Given the description of an element on the screen output the (x, y) to click on. 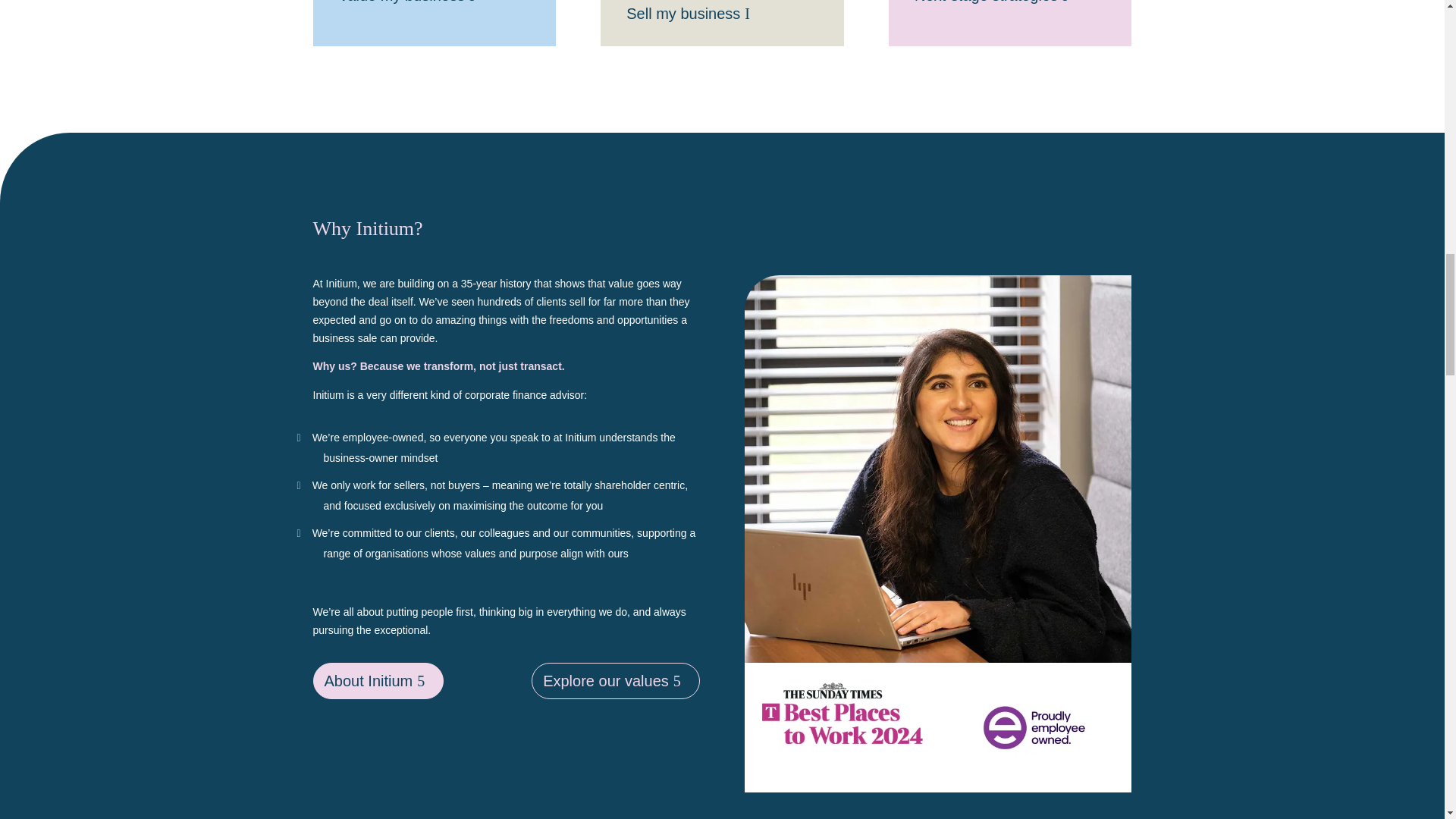
Value my business (411, 6)
Next-stage strategies (995, 6)
Explore our values (615, 680)
About Initium (378, 680)
Sell my business (692, 15)
